Given the description of an element on the screen output the (x, y) to click on. 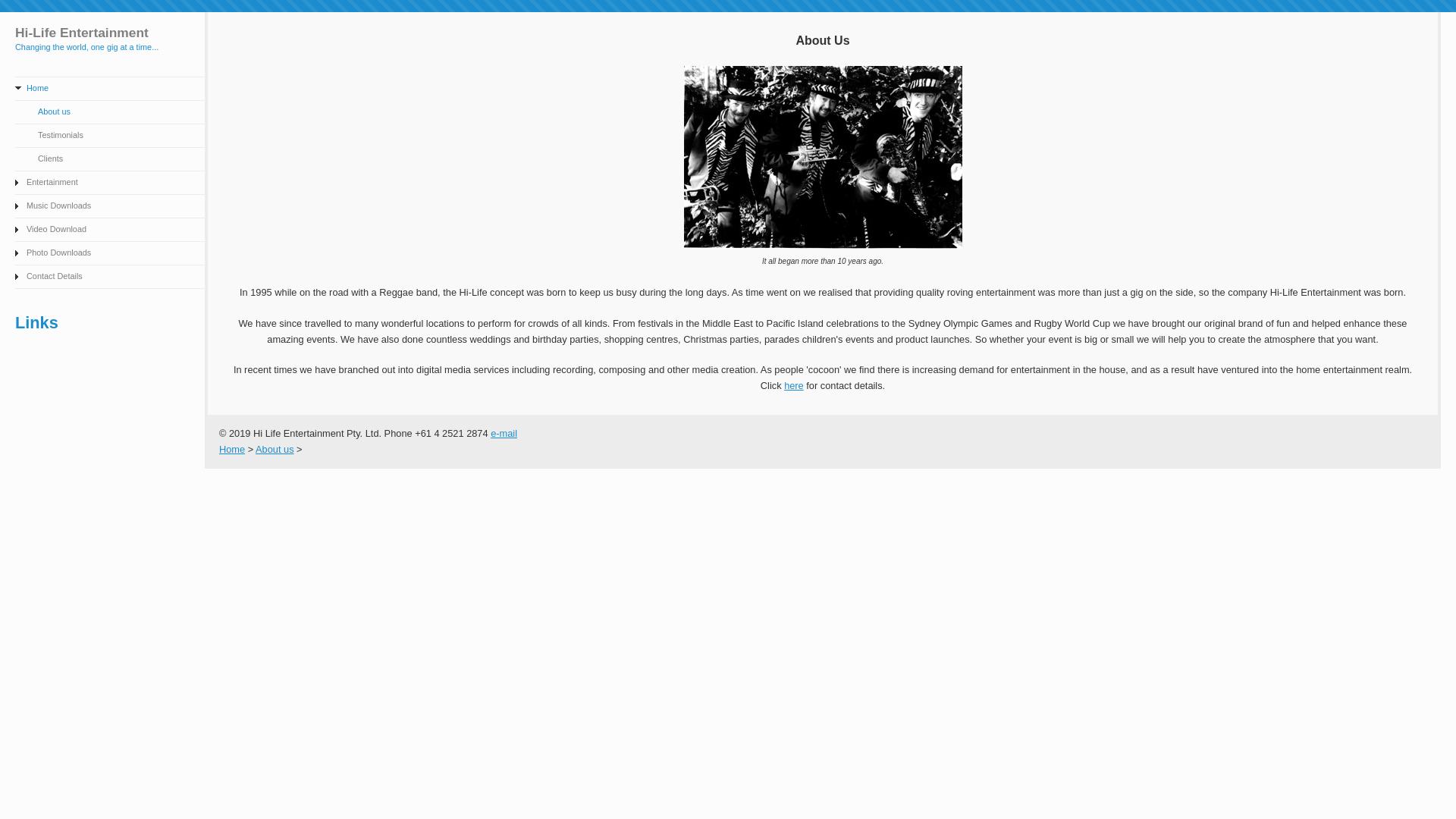
e-mail Element type: text (503, 433)
Home Element type: text (231, 449)
Home Element type: text (109, 88)
About us Element type: text (274, 449)
Entertainment Element type: text (109, 182)
Contact Details Element type: text (109, 276)
Music Downloads Element type: text (109, 206)
Testimonials Element type: text (109, 135)
Video Download Element type: text (109, 229)
About us Element type: text (109, 112)
here Element type: text (793, 385)
Photo Downloads Element type: text (109, 253)
Clients Element type: text (109, 159)
